Given the description of an element on the screen output the (x, y) to click on. 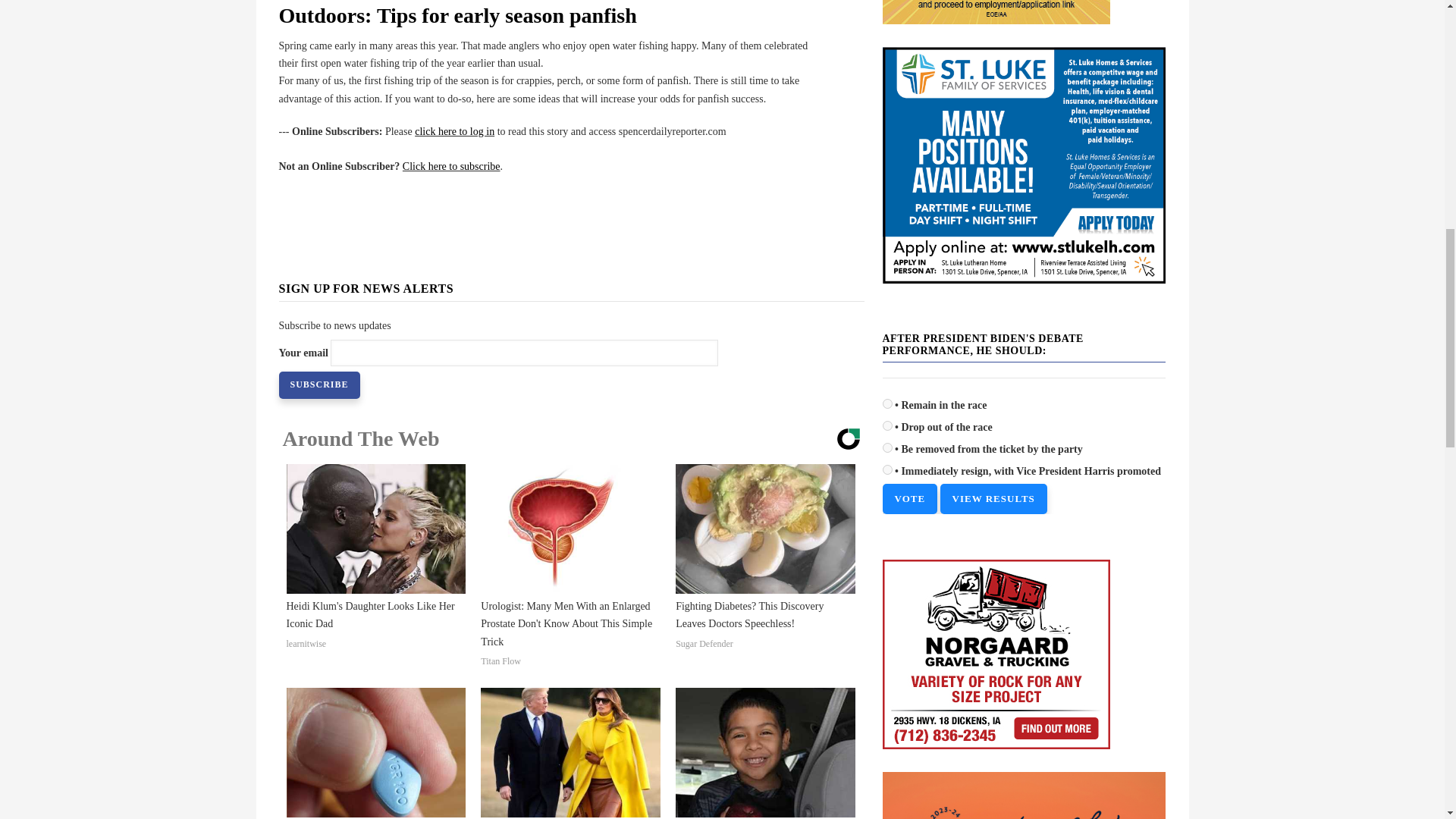
185 (887, 425)
186 (887, 447)
Subscribe (319, 384)
187 (887, 470)
184 (887, 403)
